Given the description of an element on the screen output the (x, y) to click on. 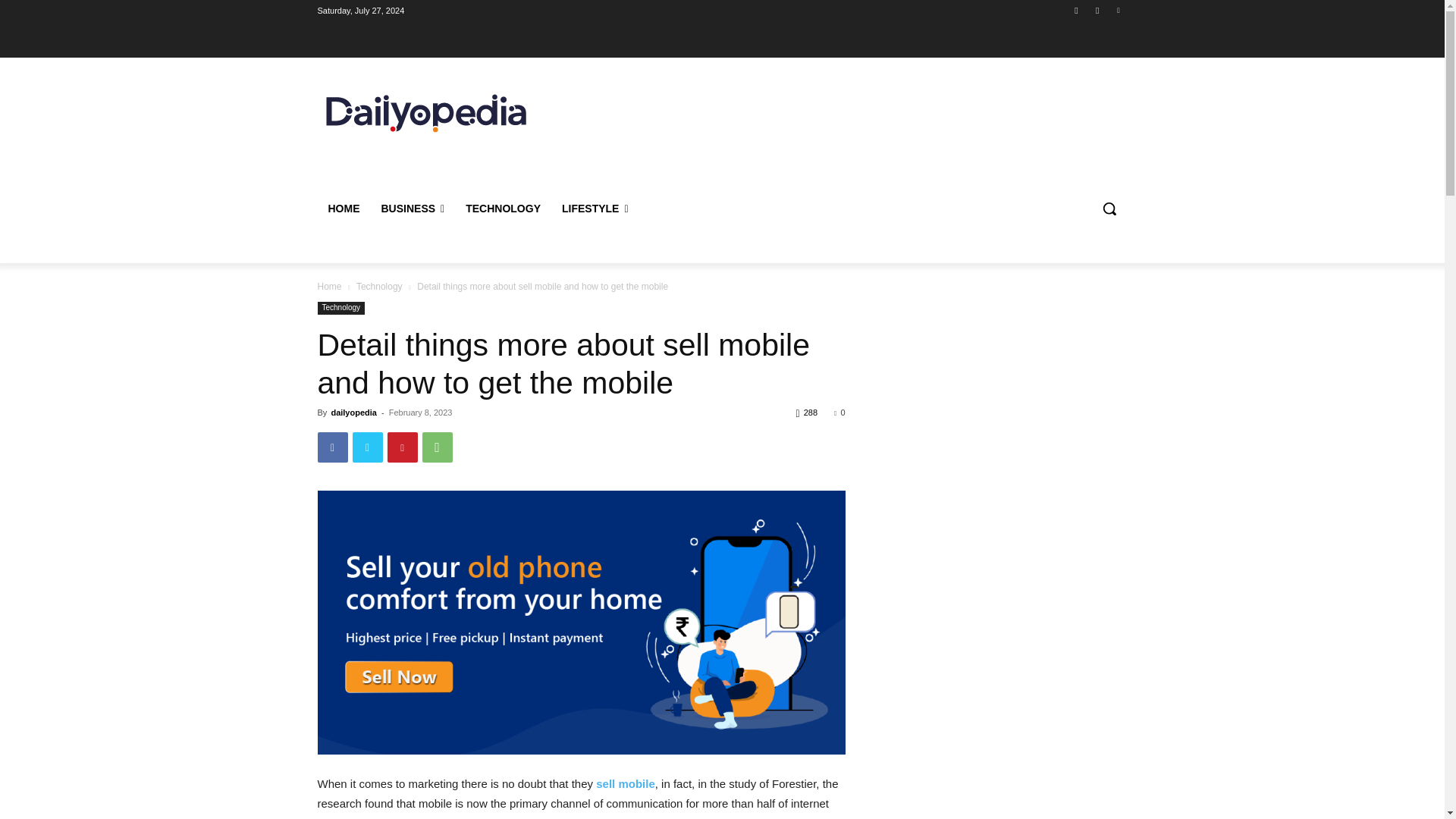
TECHNOLOGY (502, 208)
HOME (343, 208)
View all posts in Technology (379, 286)
Instagram (1097, 9)
WhatsApp (436, 447)
Linkedin (1117, 9)
Pinterest (401, 447)
Technology (341, 308)
dailyopedia (353, 411)
0 (839, 411)
Facebook (1075, 9)
BUSINESS (411, 208)
Home (328, 286)
Facebook (332, 447)
Twitter (366, 447)
